Given the description of an element on the screen output the (x, y) to click on. 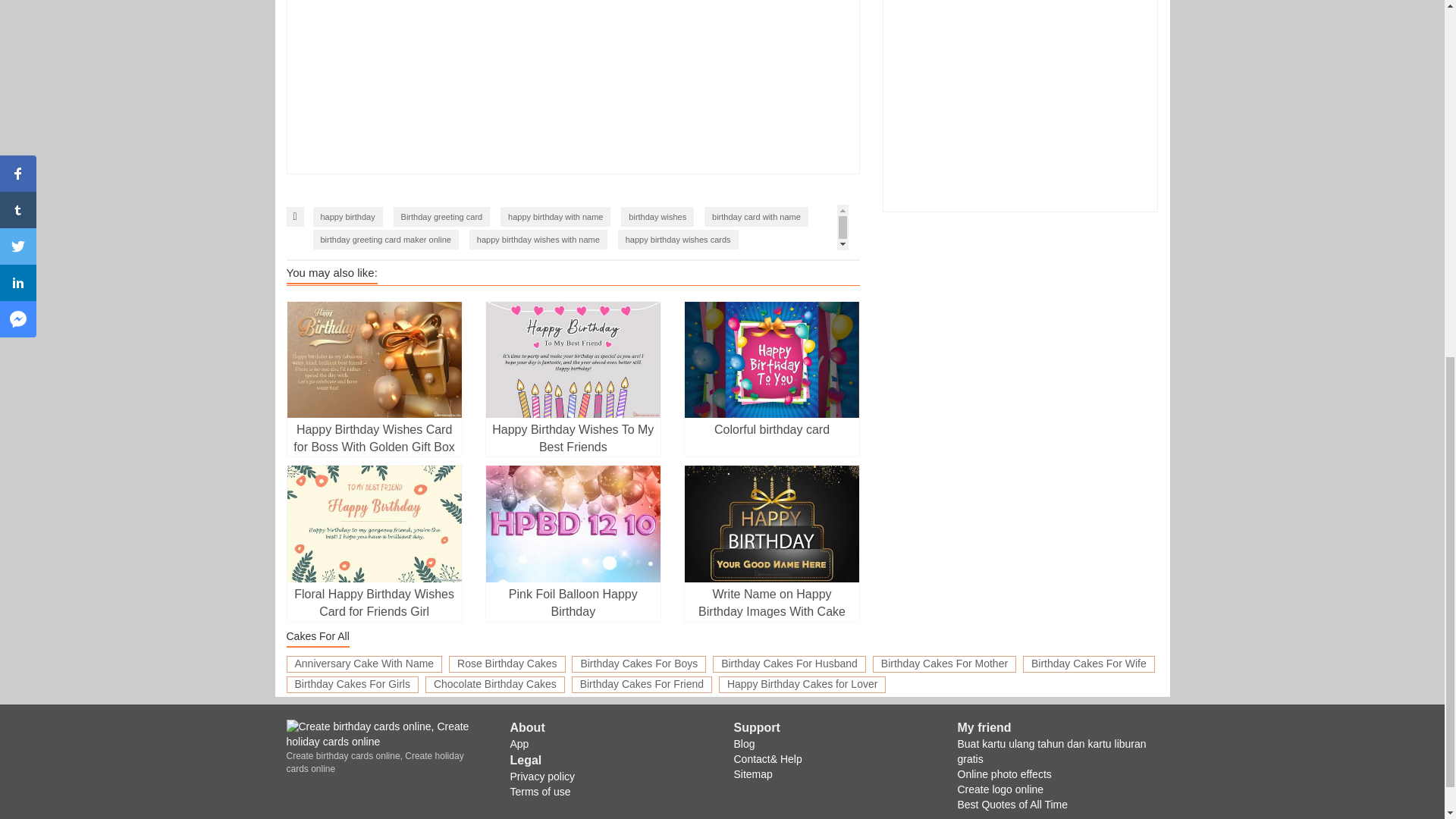
happy birthday images (362, 284)
birthday wishes for sister with name (488, 261)
happy birthday wishes cards (677, 239)
birthday card with name (756, 216)
Birthday greeting card (441, 216)
birthday wishes (657, 216)
birthday greeting card maker online (385, 239)
happy birthday (347, 216)
happy birthday wishes with name (537, 239)
happy birthday with name (555, 216)
